Given the description of an element on the screen output the (x, y) to click on. 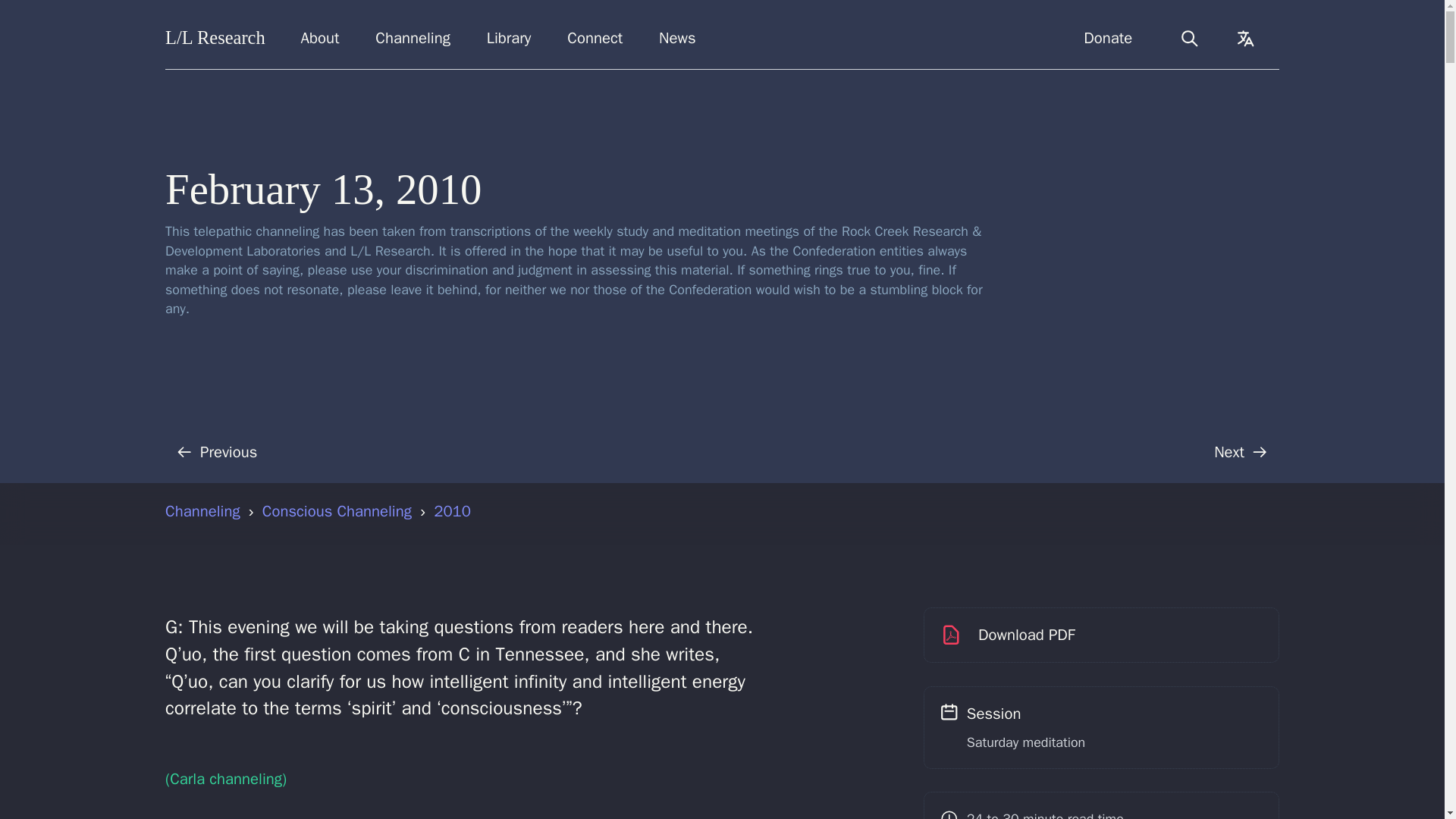
Donate (1107, 38)
Search (1189, 38)
